Given the description of an element on the screen output the (x, y) to click on. 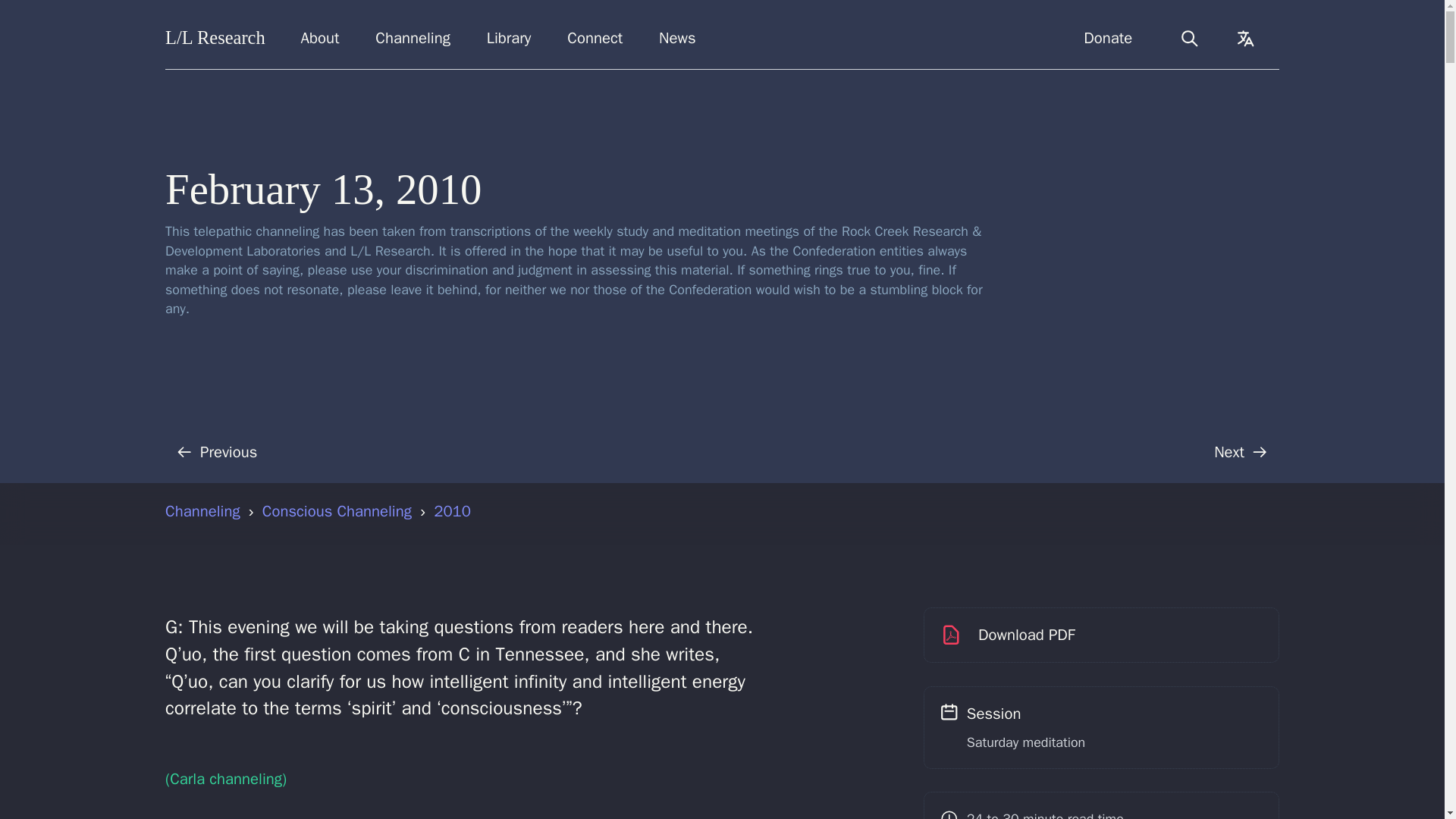
Donate (1107, 38)
Search (1189, 38)
